Given the description of an element on the screen output the (x, y) to click on. 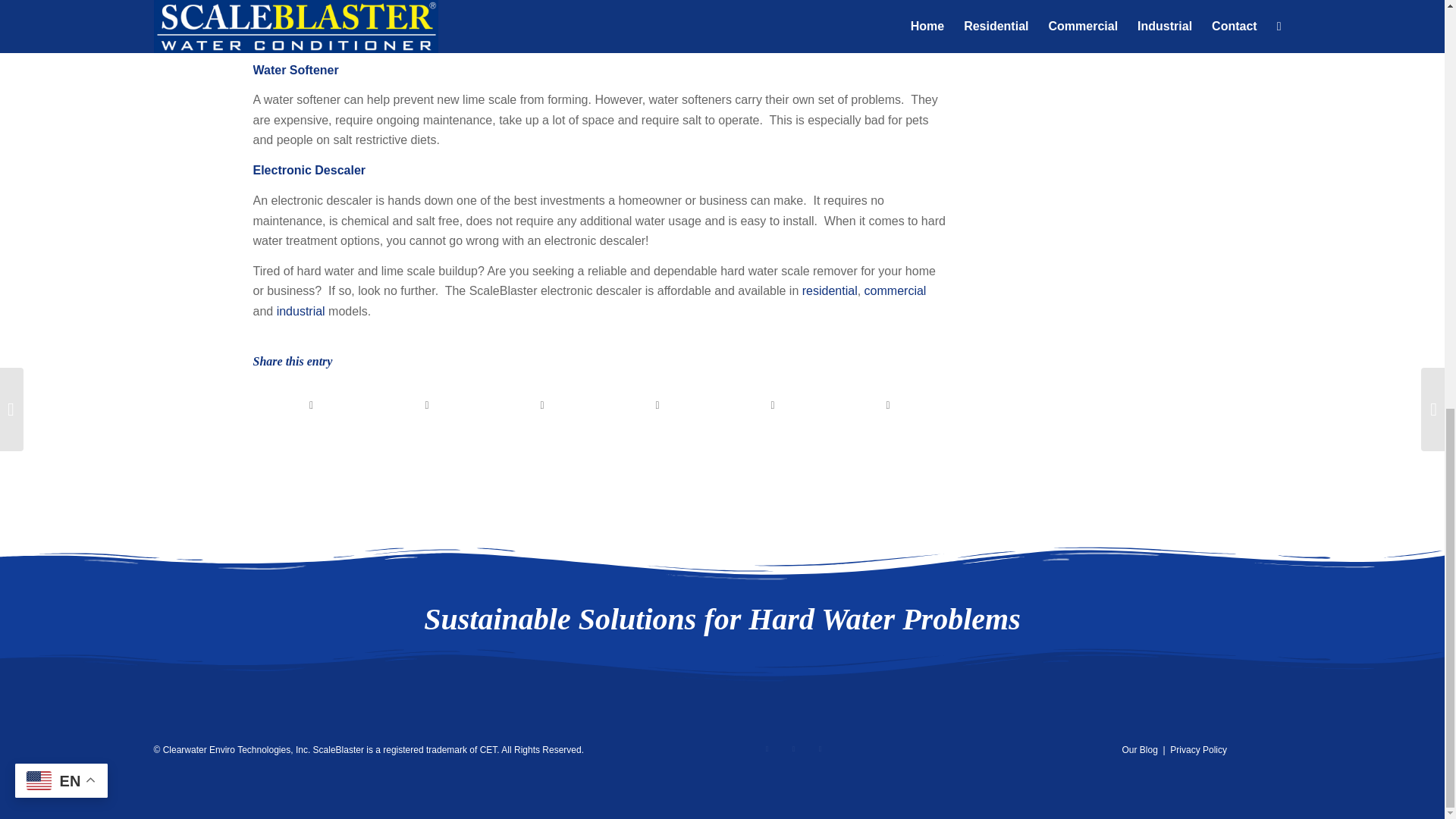
industrial (300, 310)
residential (829, 290)
limescale eliminator (753, 19)
commercial (895, 290)
